Given the description of an element on the screen output the (x, y) to click on. 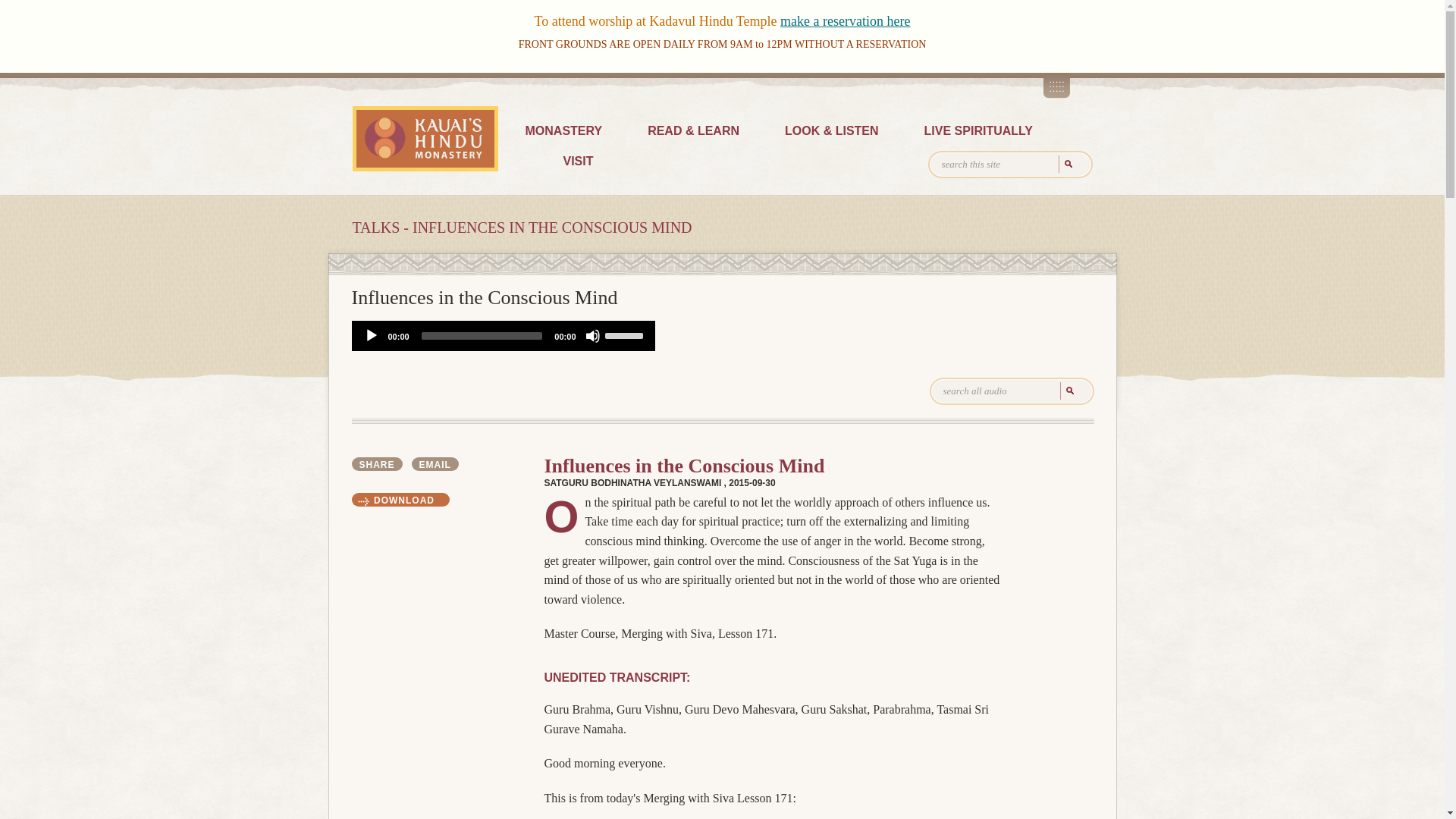
make a reservation here (845, 20)
MONASTERY (563, 131)
Mute (592, 335)
KAUAI'S HINDU MONASTERY (424, 138)
search (1067, 390)
search (1066, 163)
Expand Our Network Menu (1056, 85)
Play (371, 335)
search (1066, 163)
search this site (1010, 164)
search all audio (1012, 390)
To attend worship at Kadavul Hindu Temple (657, 20)
Related Sites (1056, 85)
